Given the description of an element on the screen output the (x, y) to click on. 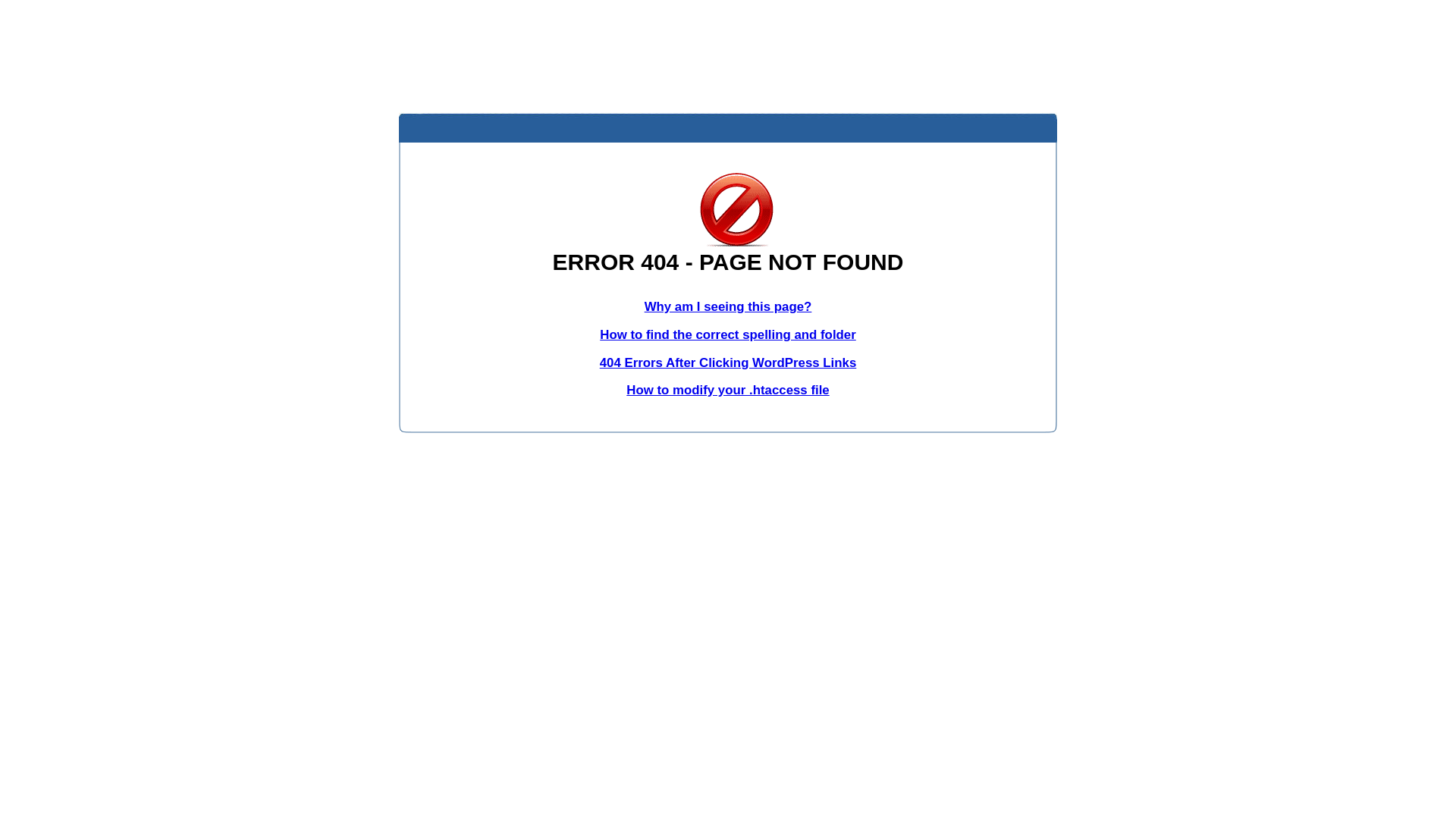
How to modify your .htaccess file Element type: text (727, 389)
404 Errors After Clicking WordPress Links Element type: text (727, 362)
Why am I seeing this page? Element type: text (728, 306)
How to find the correct spelling and folder Element type: text (727, 334)
